Given the description of an element on the screen output the (x, y) to click on. 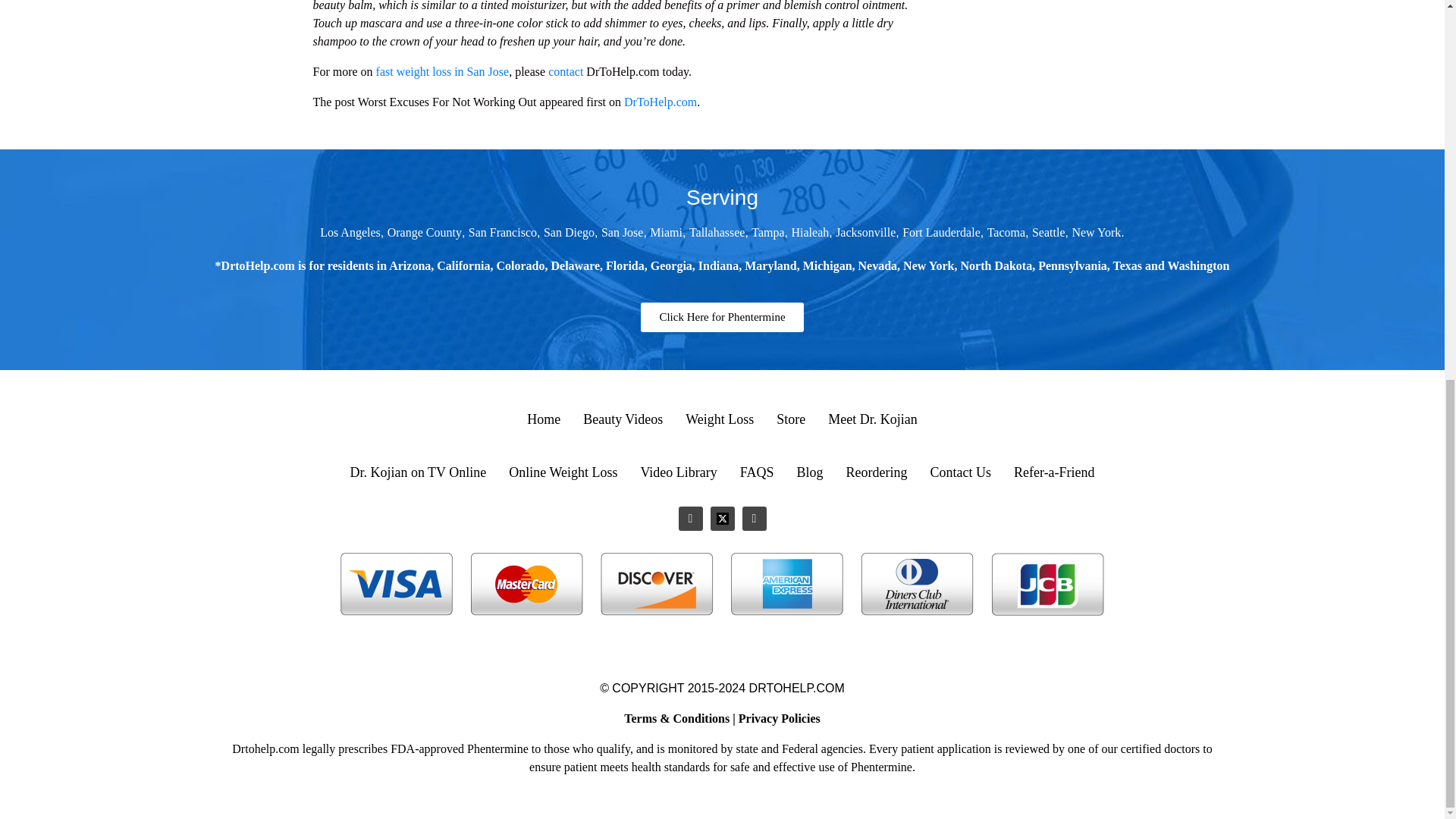
Fast Weight Loss Solutions for Orange County Residents (424, 231)
Tallahassee (716, 231)
San Francisco (502, 231)
Fort Lauderdale (940, 231)
San Diego (568, 231)
Phentermine Weight Loss in Los Angeles (350, 231)
fast weight loss in San Jose (442, 70)
DrToHelp.com (660, 101)
Miami (665, 231)
Hialeah (810, 231)
